Given the description of an element on the screen output the (x, y) to click on. 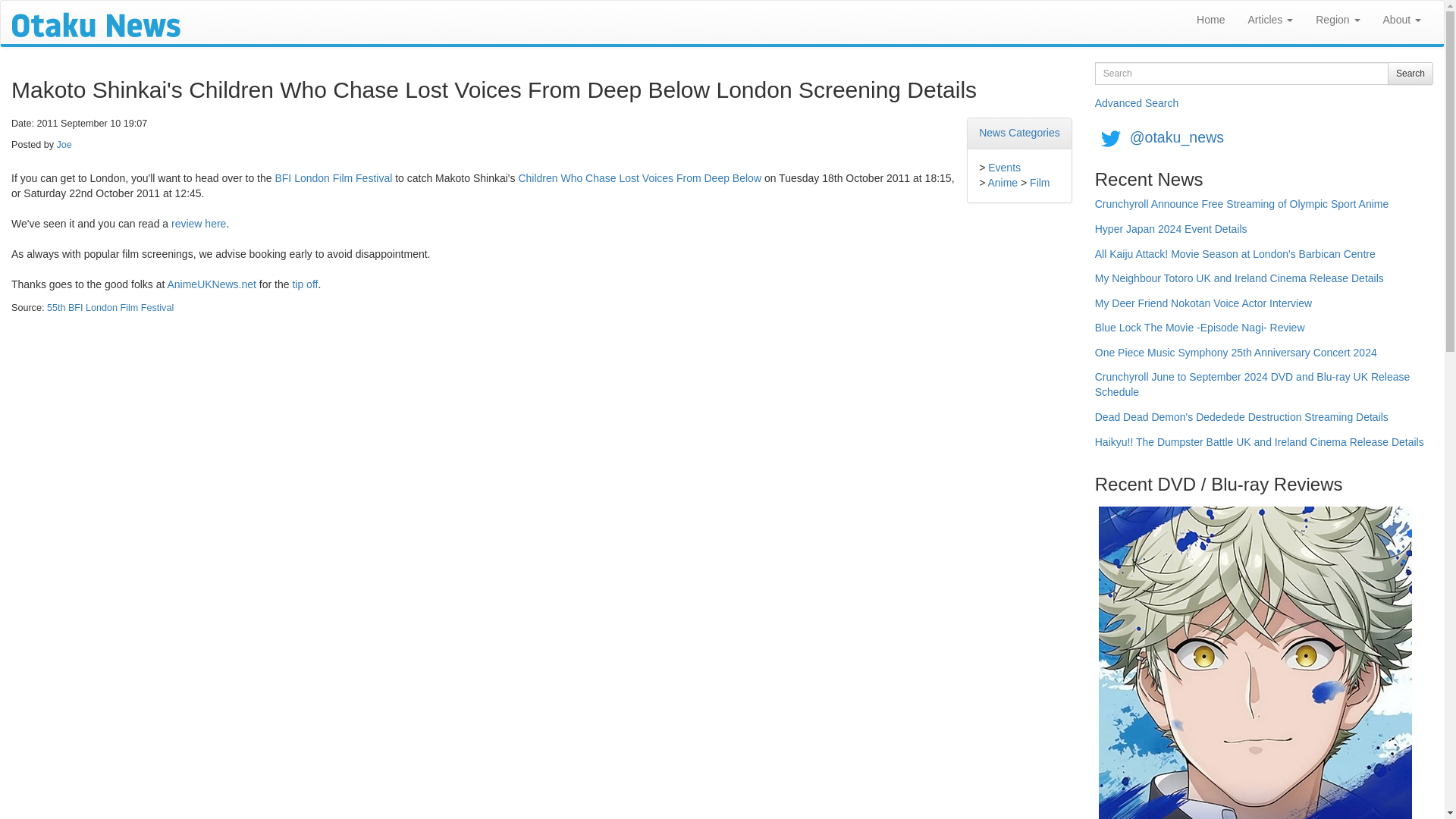
About (1401, 19)
Advanced Search (1136, 102)
AnimeUKNews.net (211, 284)
Articles (1270, 19)
Joe (63, 144)
tip off (304, 284)
All Kaiju Attack! Movie Season at London's Barbican Centre (1234, 259)
News Categories (1018, 132)
My Neighbour Totoro UK and Ireland Cinema Release Details (1239, 283)
Film (1039, 182)
Children Who Chase Lost Voices From Deep Below (639, 177)
BFI London Film Festival (333, 177)
Crunchyroll Announce Free Streaming of Olympic Sport Anime (1241, 209)
Search (1409, 73)
Hyper Japan 2024 Event Details (1170, 234)
